Given the description of an element on the screen output the (x, y) to click on. 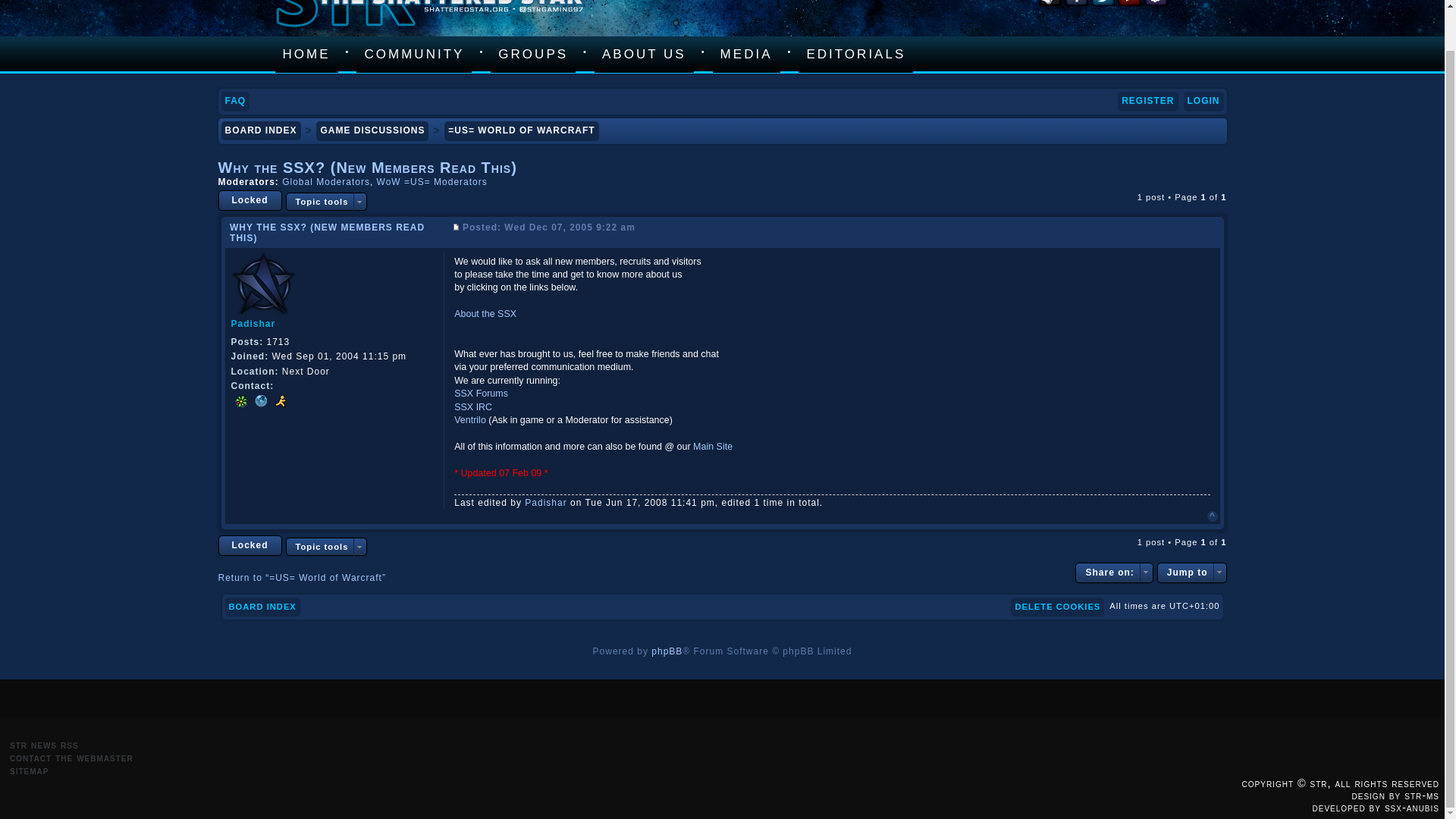
STR Facebook Page (1074, 3)
STR Twitter Page (1102, 3)
AOL (279, 401)
Board index (261, 606)
STR Steam Community (1049, 3)
Board index (261, 130)
Game Discussions (371, 130)
ICQ (240, 401)
Login (1202, 101)
Top (1212, 516)
COMMUNITY (413, 54)
ABOUT US (644, 54)
HOME (306, 54)
